Given the description of an element on the screen output the (x, y) to click on. 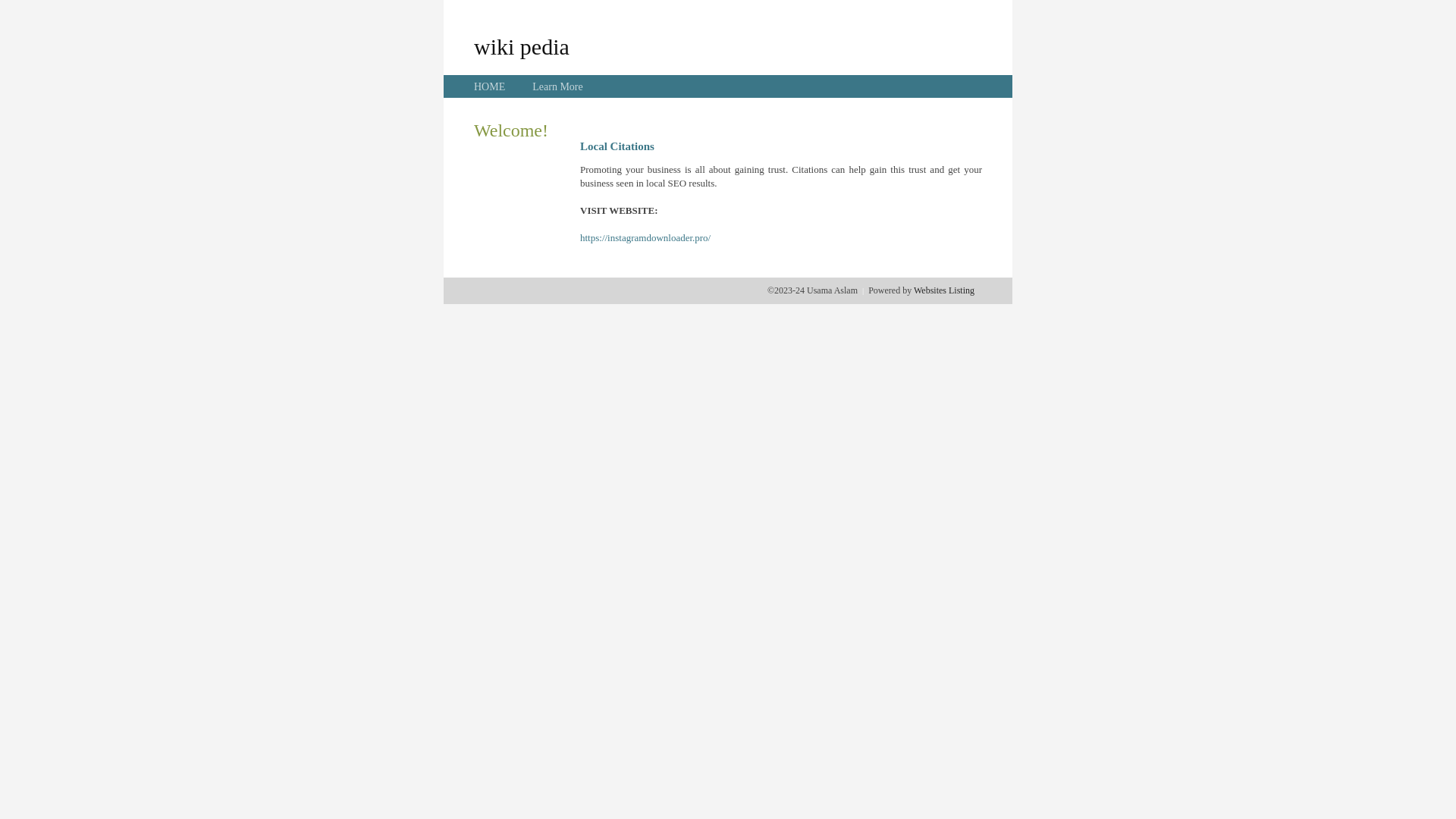
Learn More Element type: text (557, 86)
https://instagramdownloader.pro/ Element type: text (645, 237)
HOME Element type: text (489, 86)
Websites Listing Element type: text (943, 290)
wiki pedia Element type: text (521, 46)
